Given the description of an element on the screen output the (x, y) to click on. 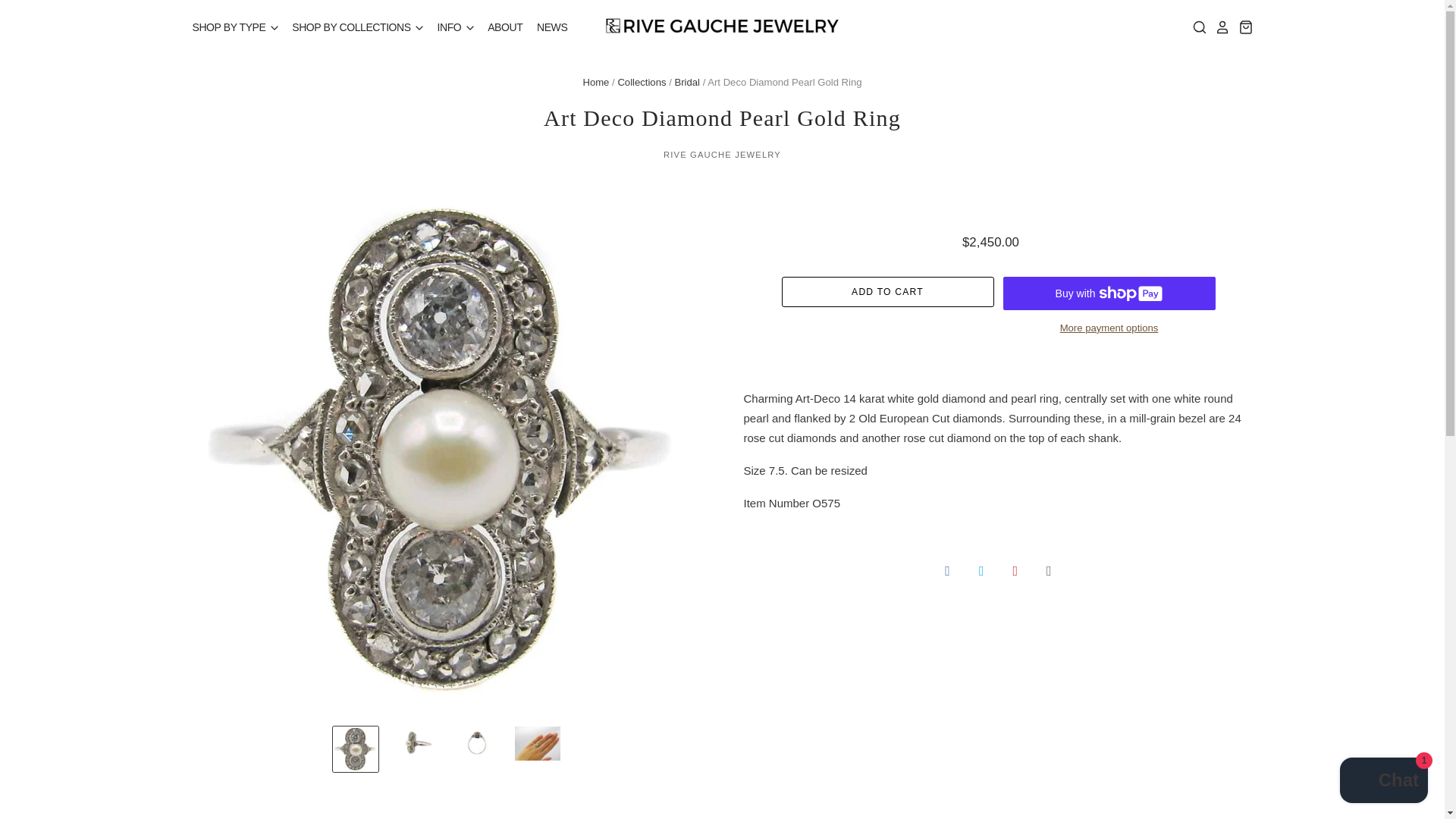
Shopify online store chat (1383, 781)
SHOP BY TYPE (235, 27)
SHOP BY COLLECTIONS (352, 27)
Add to cart (886, 291)
